Given the description of an element on the screen output the (x, y) to click on. 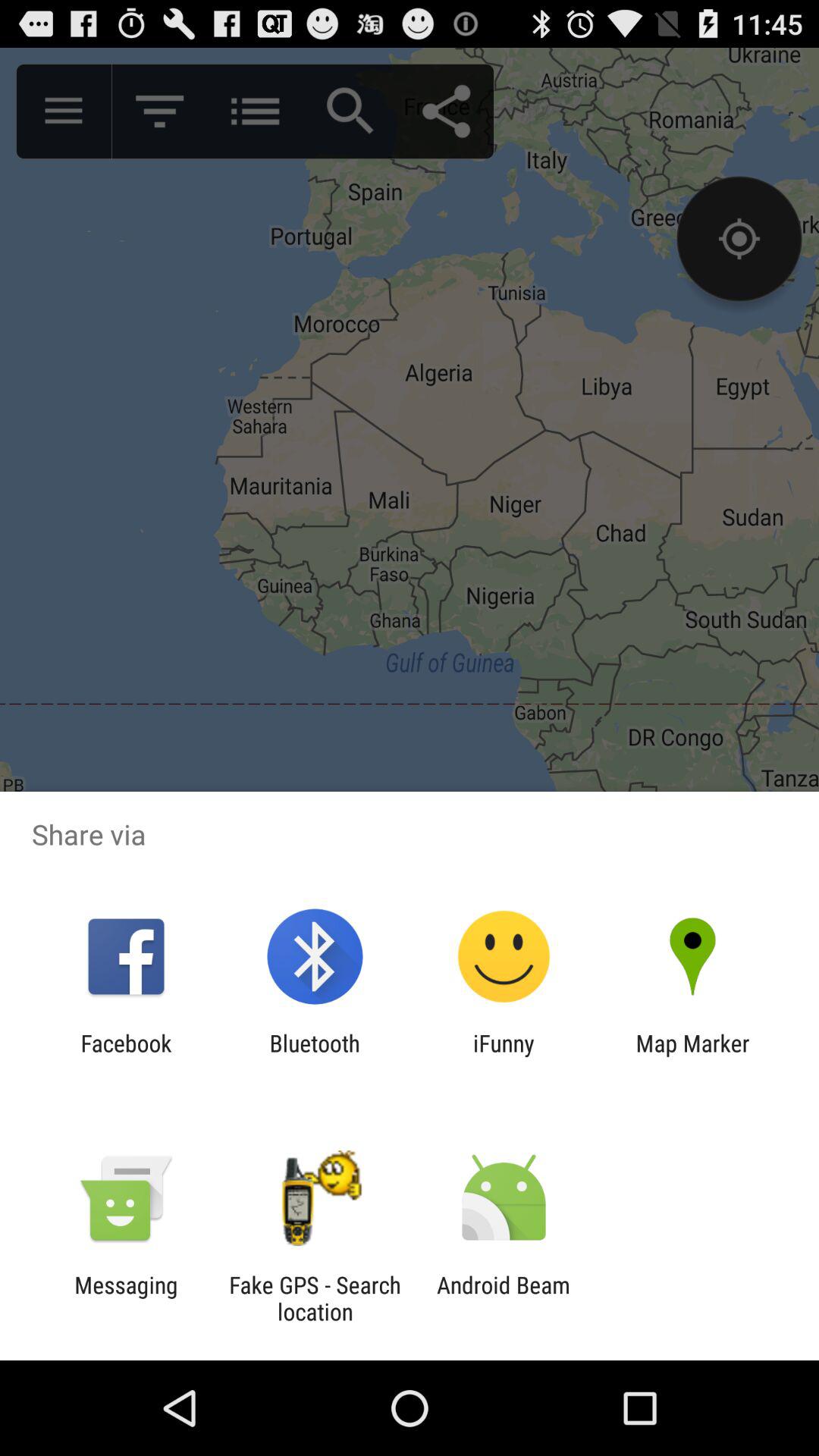
click app to the left of android beam icon (314, 1298)
